Given the description of an element on the screen output the (x, y) to click on. 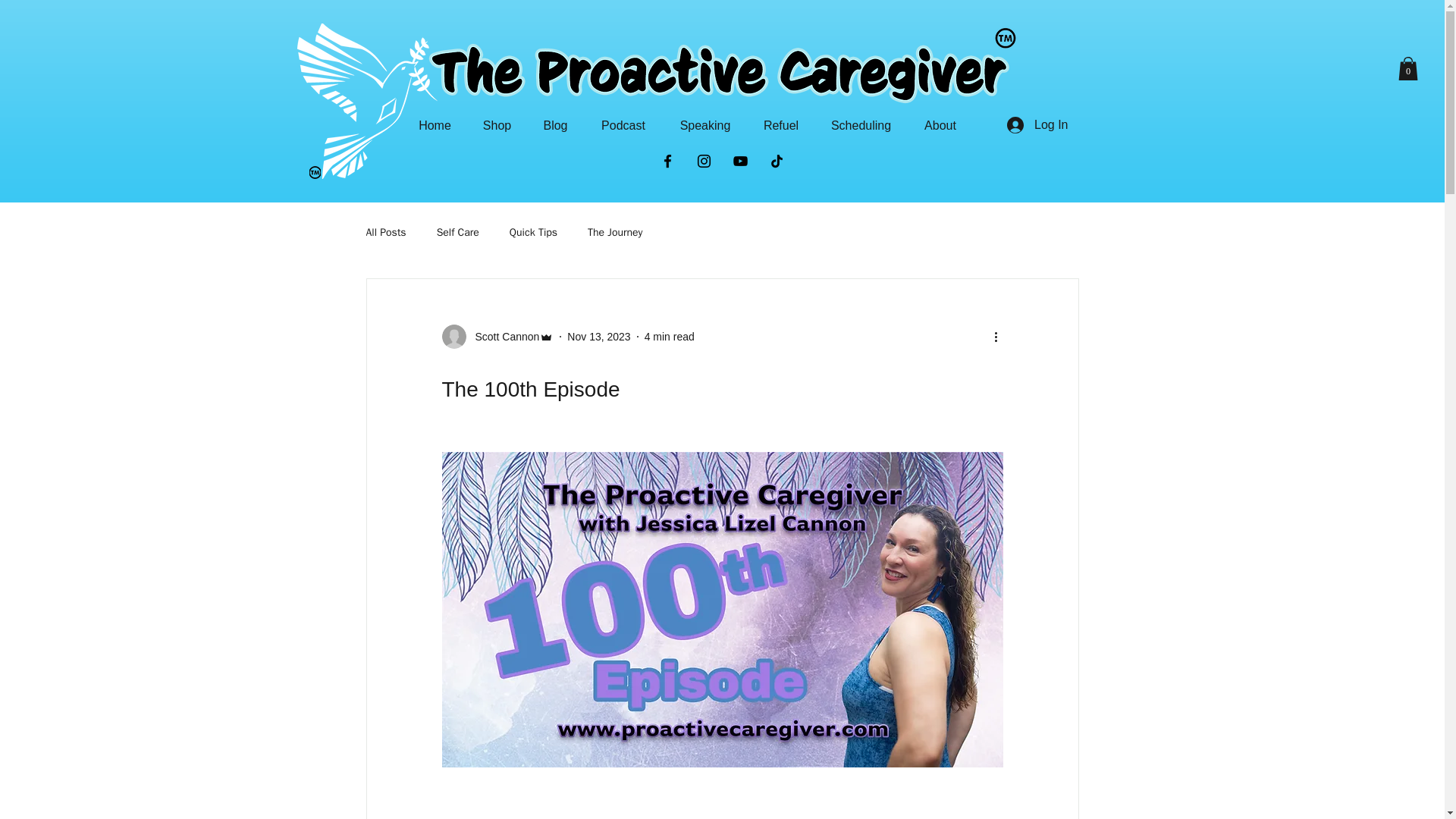
Quick Tips (533, 232)
Nov 13, 2023 (598, 336)
The Journey (615, 232)
Scott Cannon (497, 336)
Blog (555, 125)
Podcast (623, 125)
Self Care (457, 232)
4 min read (669, 336)
Scott Cannon (501, 336)
Shop (497, 125)
Refuel (781, 125)
Log In (1036, 125)
Scheduling (860, 125)
Speaking (704, 125)
Home (435, 125)
